Given the description of an element on the screen output the (x, y) to click on. 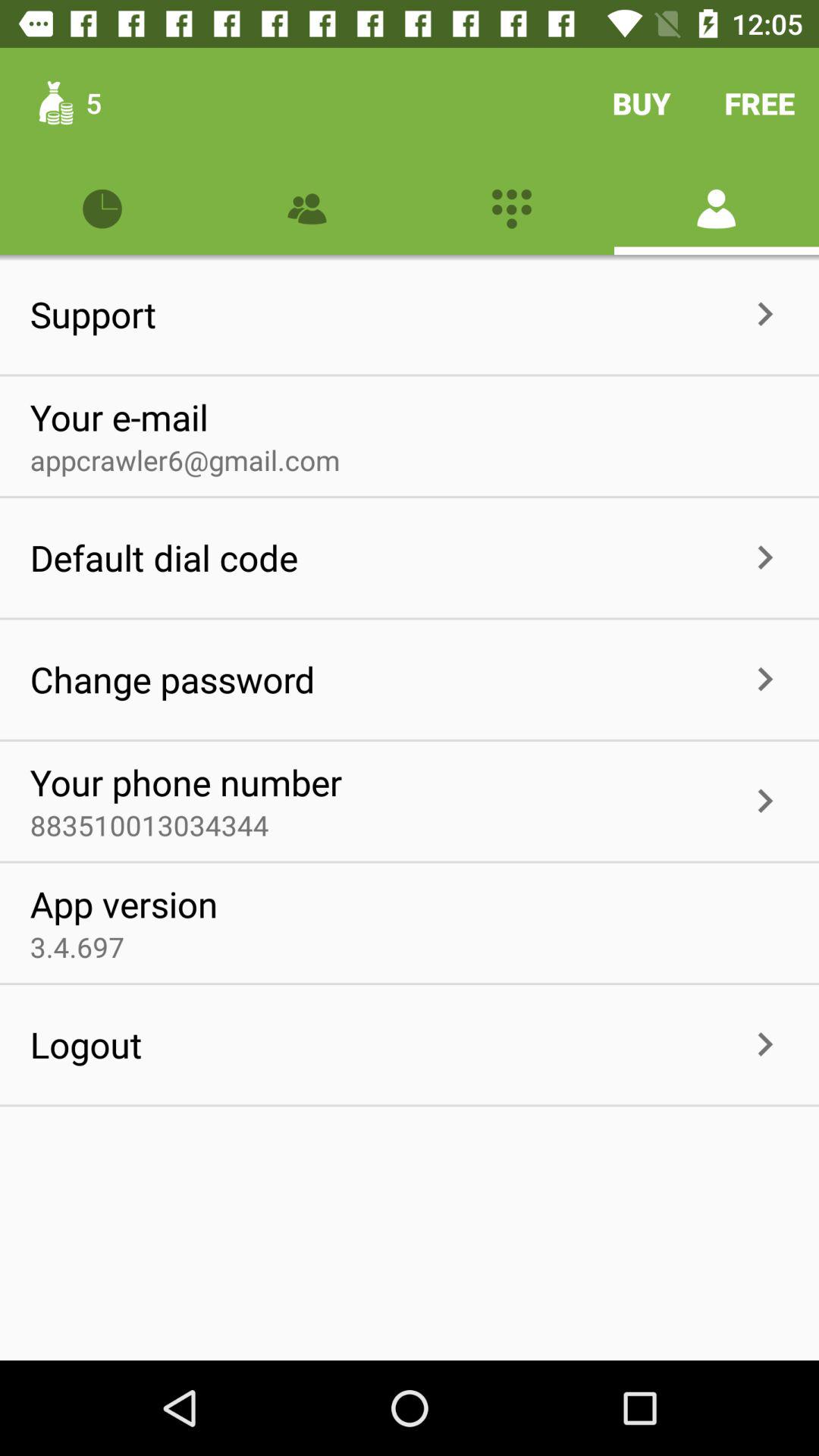
flip until app version (123, 903)
